Given the description of an element on the screen output the (x, y) to click on. 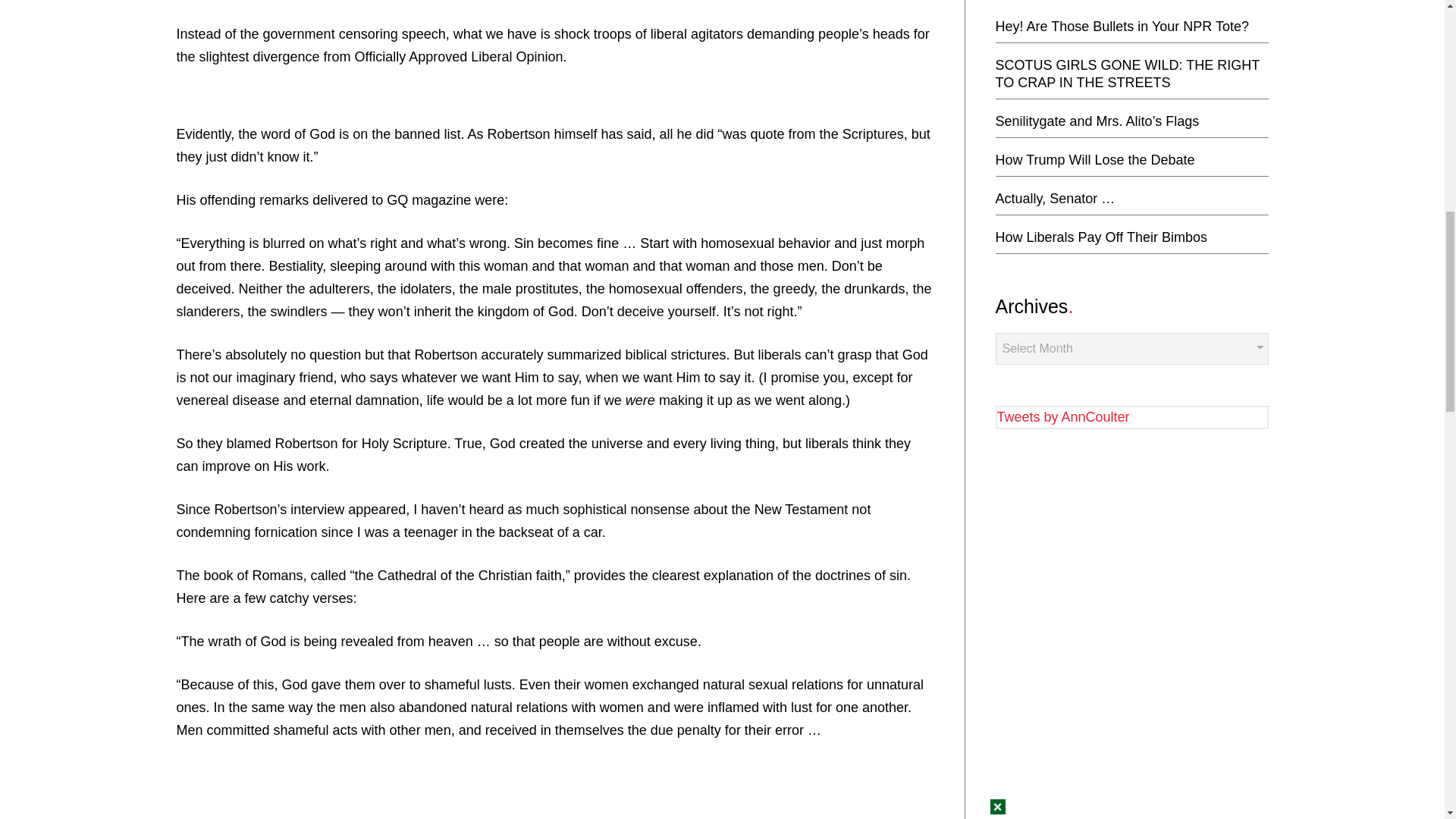
SCOTUS GIRLS GONE WILD: THE RIGHT TO CRAP IN THE STREETS (1126, 73)
How Trump Will Lose the Debate (1093, 159)
Hey! Are Those Bullets in Your NPR Tote? (1121, 26)
How Liberals Pay Off Their Bimbos (1100, 237)
Tweets by AnnCoulter (1062, 417)
